Given the description of an element on the screen output the (x, y) to click on. 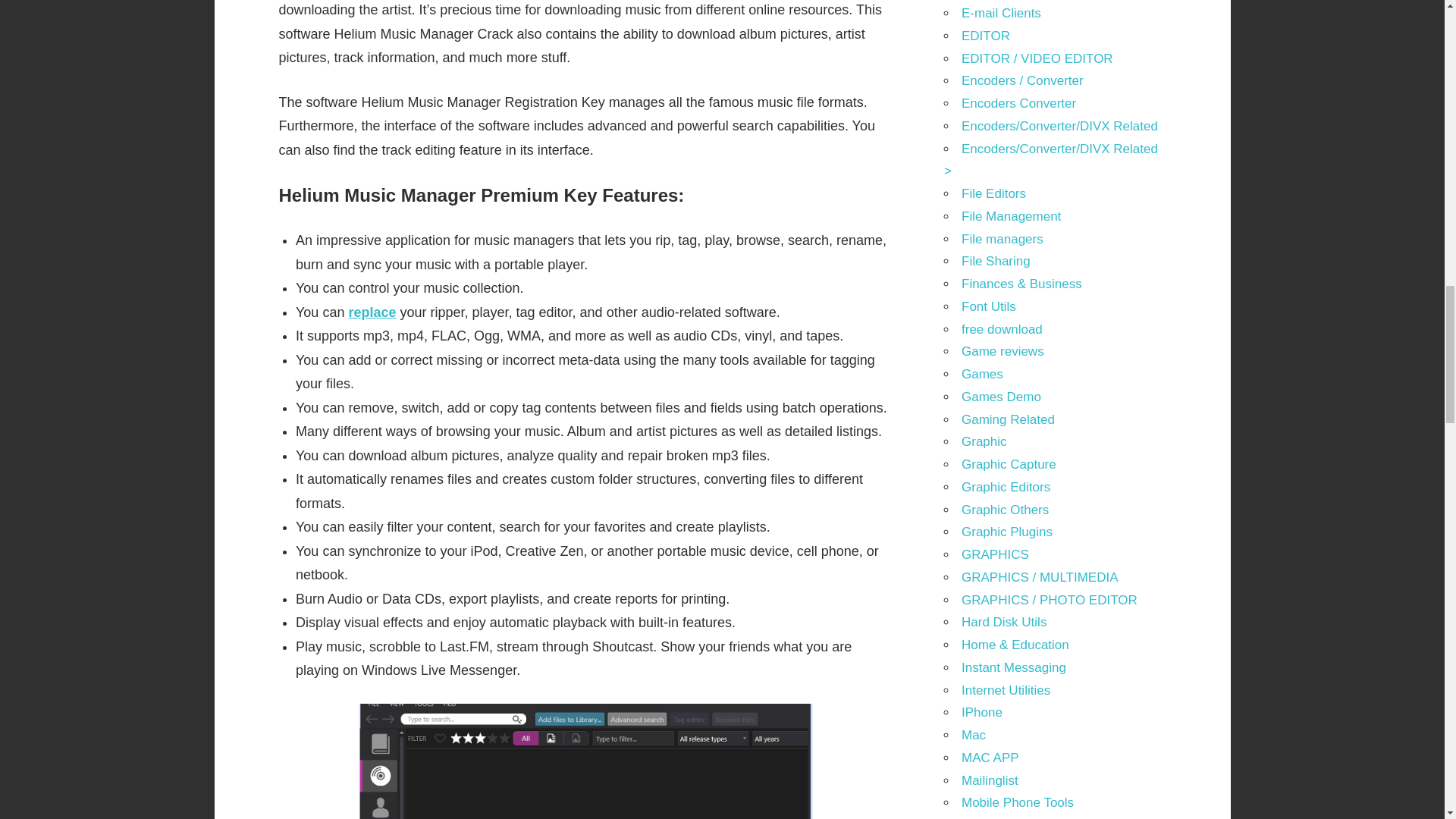
replace (371, 312)
